Given the description of an element on the screen output the (x, y) to click on. 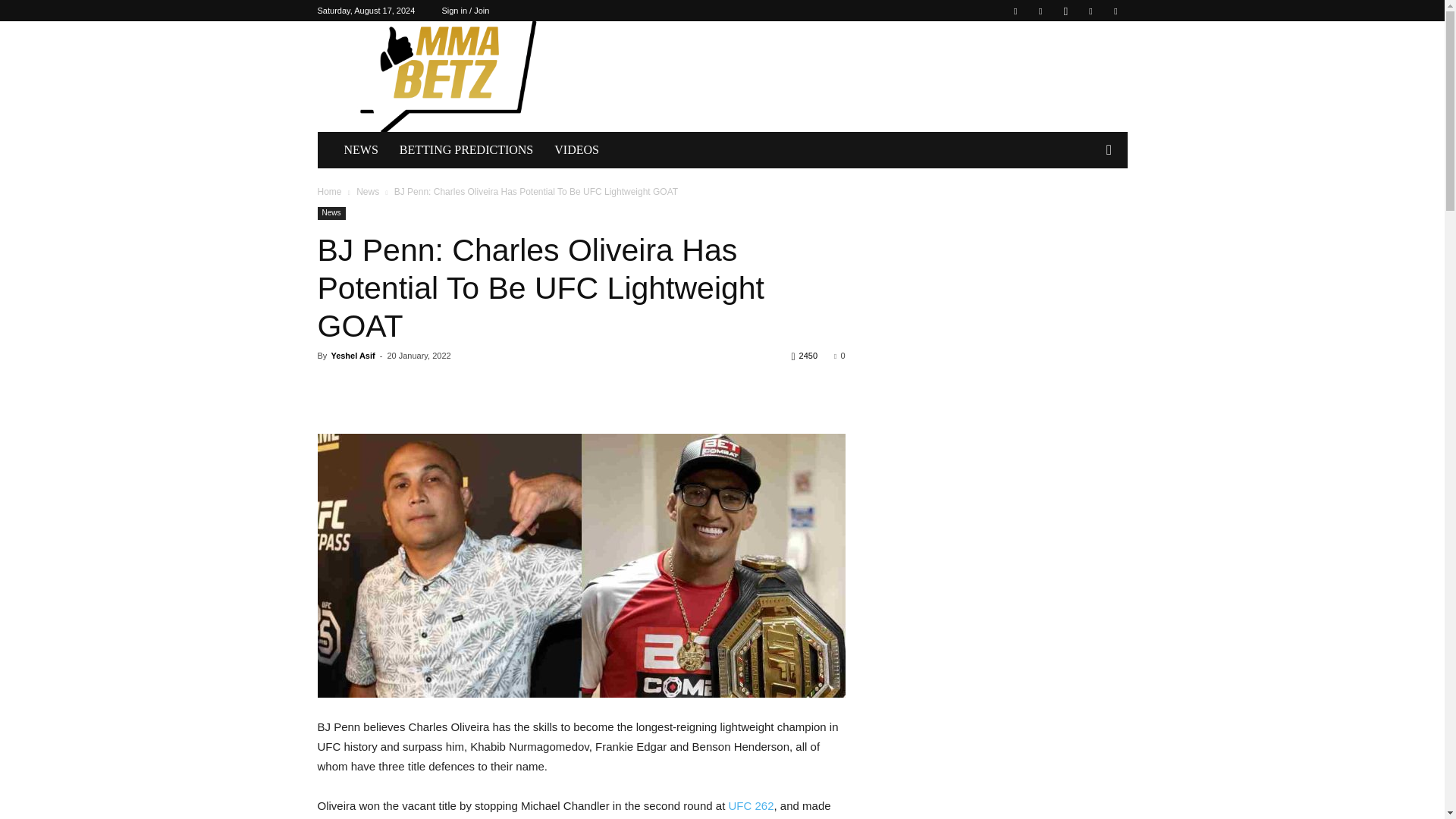
NEWS (360, 149)
Twitter (1090, 10)
Facebook (1015, 10)
Instagram (1065, 10)
Youtube (1114, 10)
View all posts in News (367, 191)
